Given the description of an element on the screen output the (x, y) to click on. 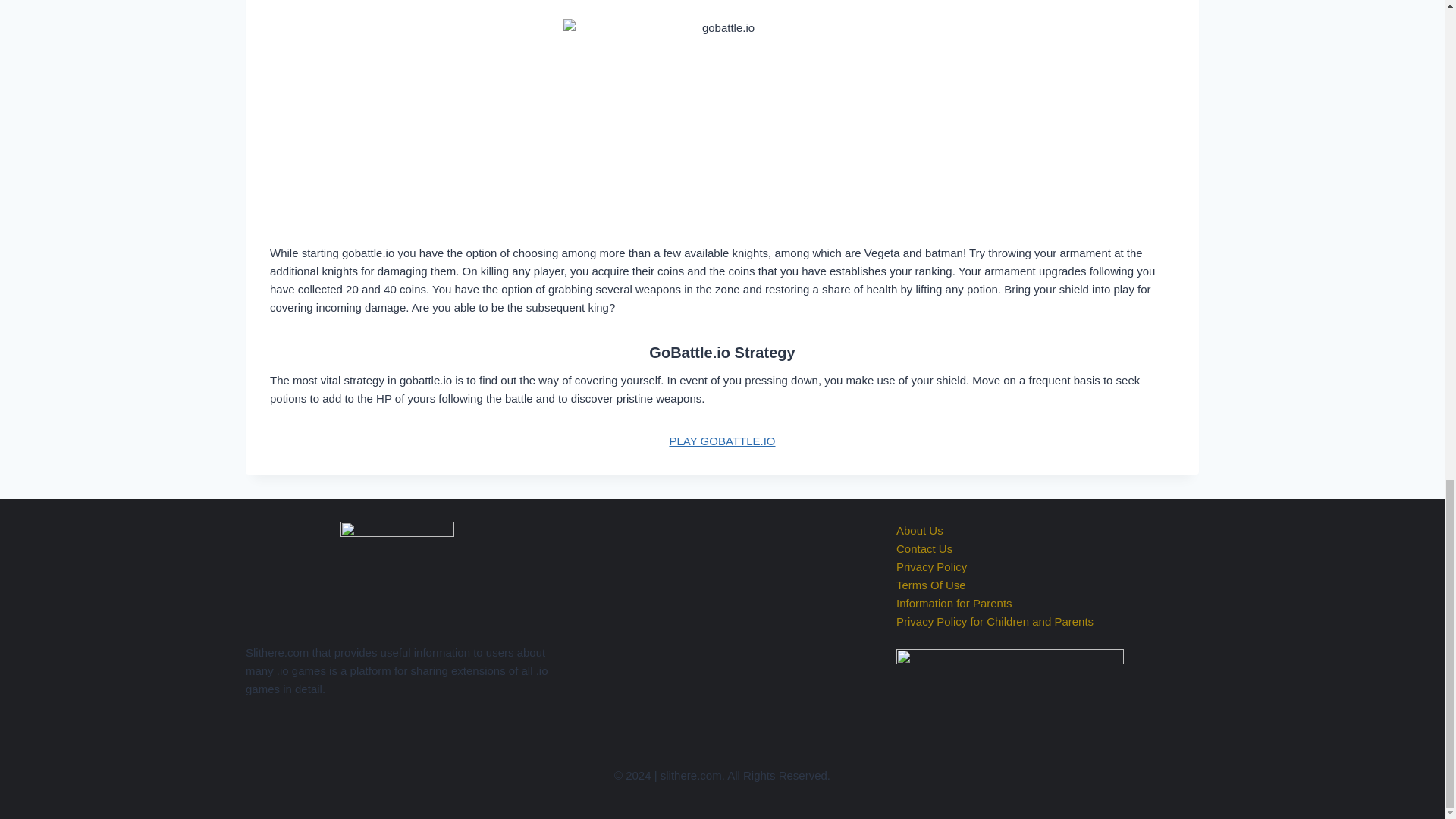
Contact Us (924, 548)
Terms Of Use (931, 584)
About Us (919, 530)
PLAY GOBATTLE.IO (721, 440)
Privacy Policy (931, 566)
